Given the description of an element on the screen output the (x, y) to click on. 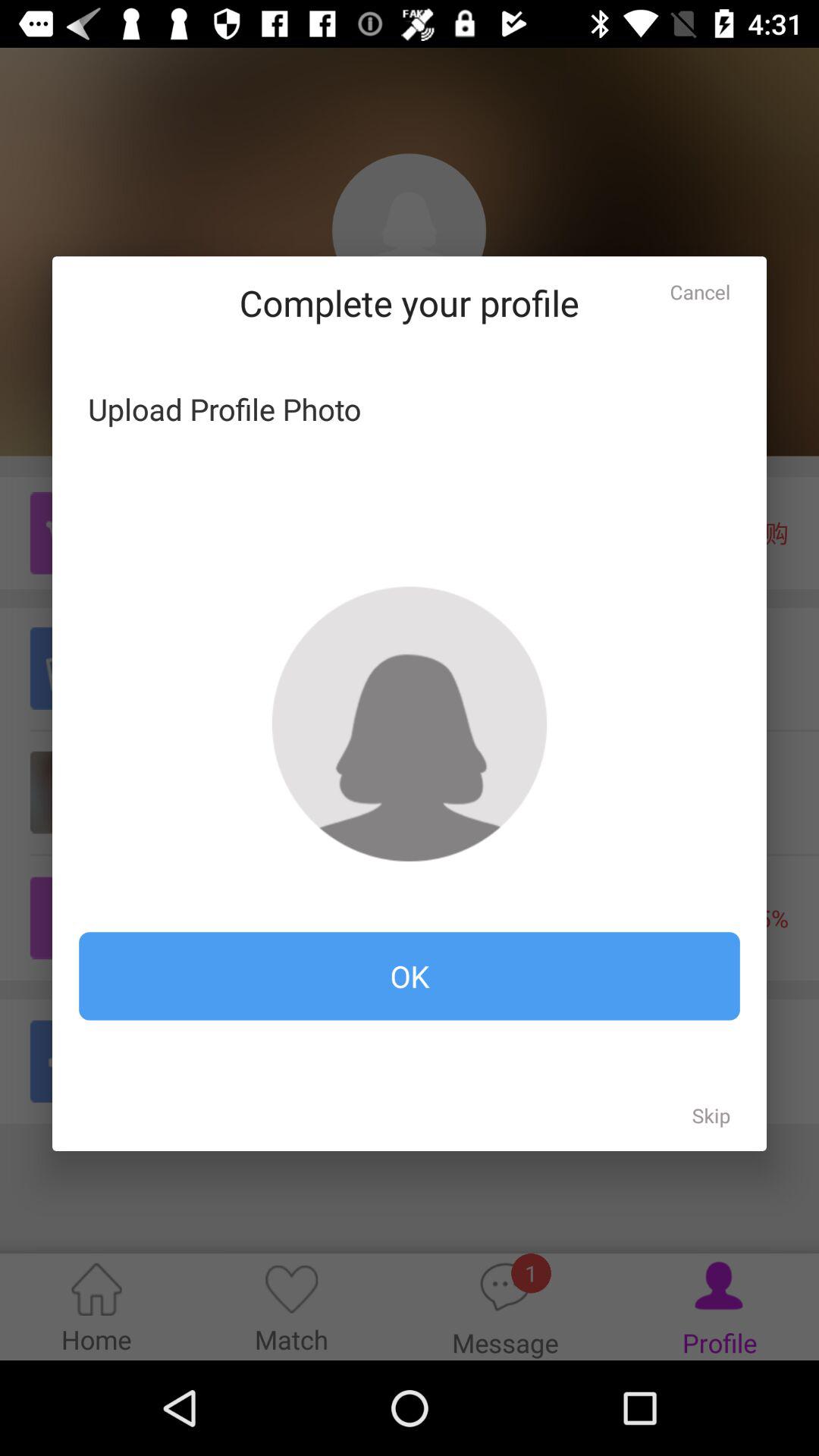
select the icon below upload profile photo (409, 723)
